Given the description of an element on the screen output the (x, y) to click on. 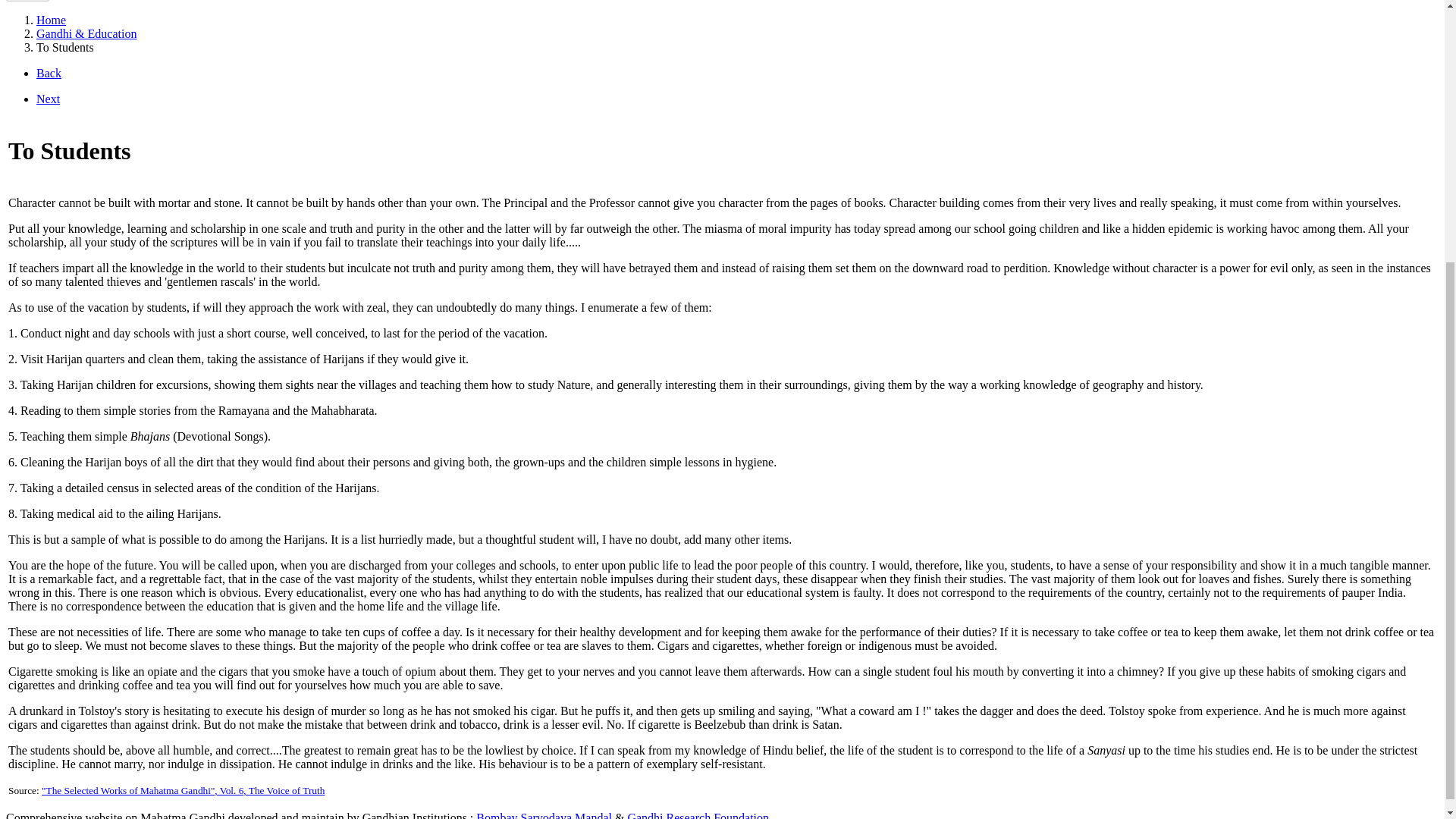
Next (47, 98)
Back (48, 72)
Home (50, 19)
Submit (27, 0)
